Given the description of an element on the screen output the (x, y) to click on. 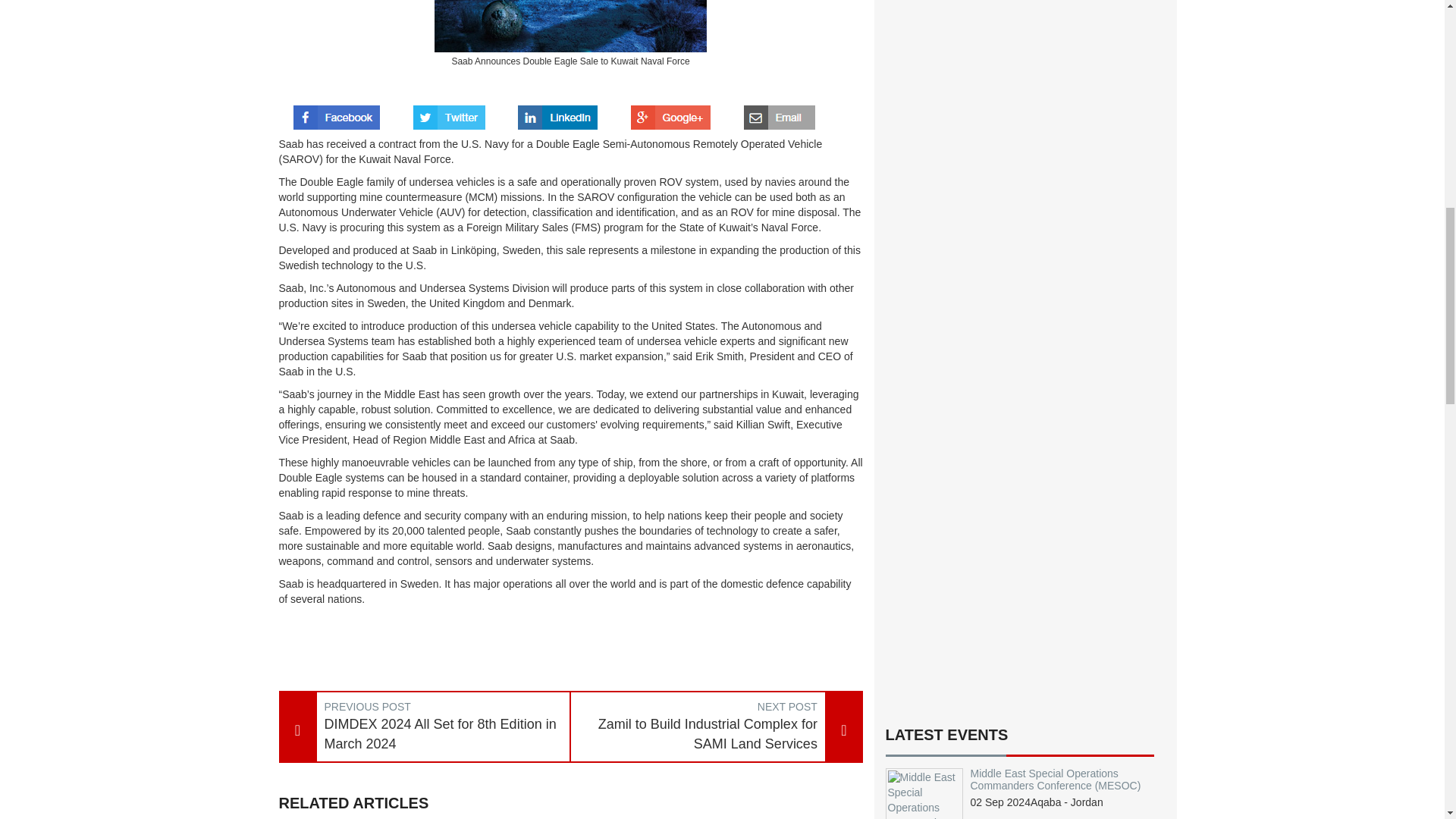
Visit defaiya on Facebook (337, 112)
Zamil to Build Industrial Complex for SAMI Land Services (697, 733)
Share on LinkedIn (557, 112)
Saab Announces Double Eagle Sale to Kuwait Naval Force (570, 26)
DIMDEX 2024 All Set for 8th Edition in March 2024 (443, 733)
Tweet this (448, 112)
